Given the description of an element on the screen output the (x, y) to click on. 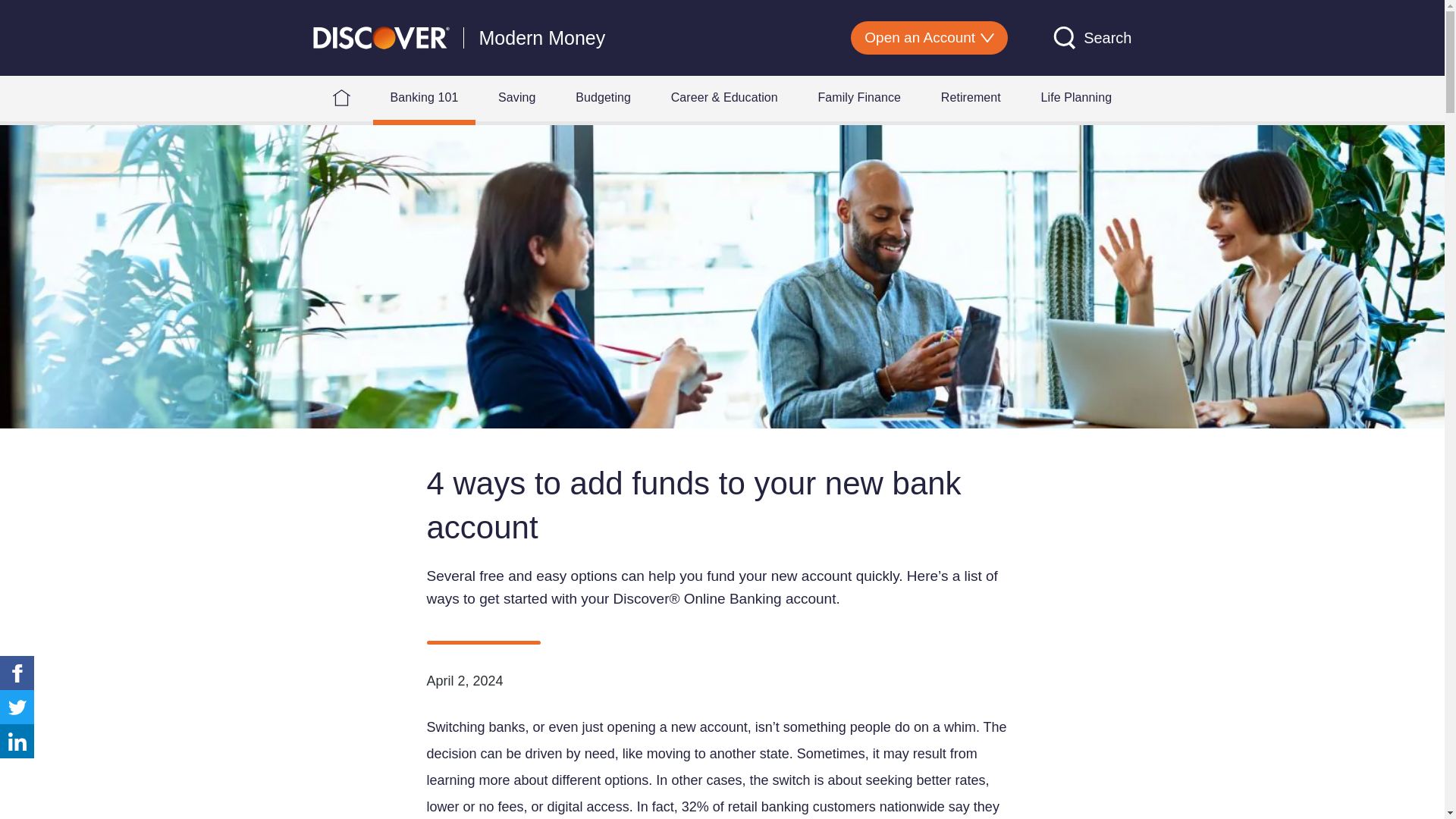
Open an Account (928, 37)
Search (1091, 37)
Budgeting (602, 97)
Retirement (970, 97)
Discover Bank Blog Home (341, 97)
Life Planning (1076, 97)
Saving (516, 97)
Discover Logo (380, 37)
Banking 101 (424, 97)
Family Finance (858, 97)
